Given the description of an element on the screen output the (x, y) to click on. 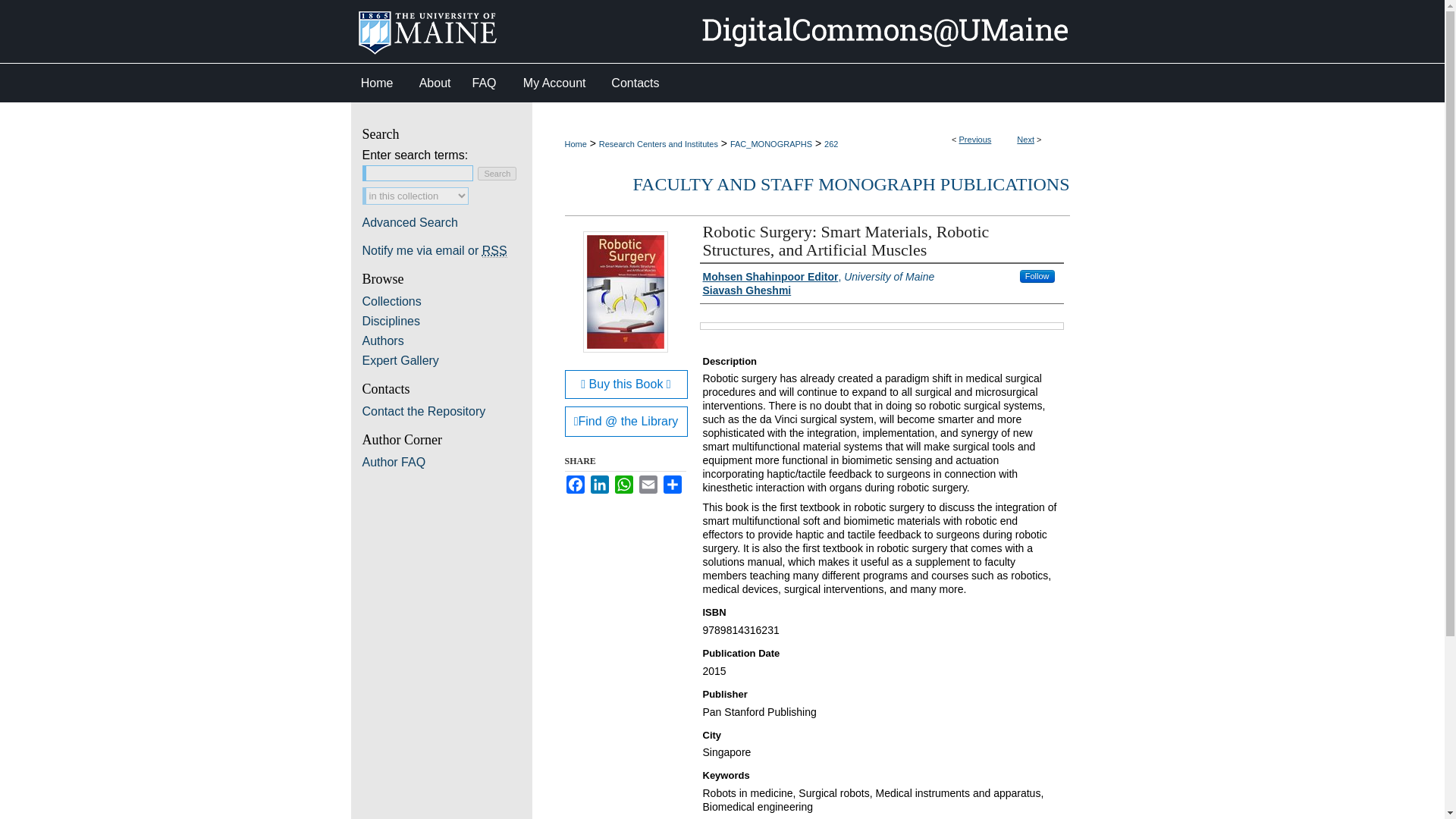
Disciplines (447, 321)
Contacts (634, 82)
About (435, 82)
Notify me via email or RSS (447, 250)
Email or RSS Notifications (447, 250)
Previous (975, 139)
Home (378, 82)
Contacts (634, 82)
Mohsen Shahinpoor Editor, University of Maine (817, 276)
Buy this Book (625, 384)
Email (647, 484)
My Account (554, 82)
FAQ (483, 82)
Browse by Disciplines (447, 321)
LinkedIn (599, 484)
